Given the description of an element on the screen output the (x, y) to click on. 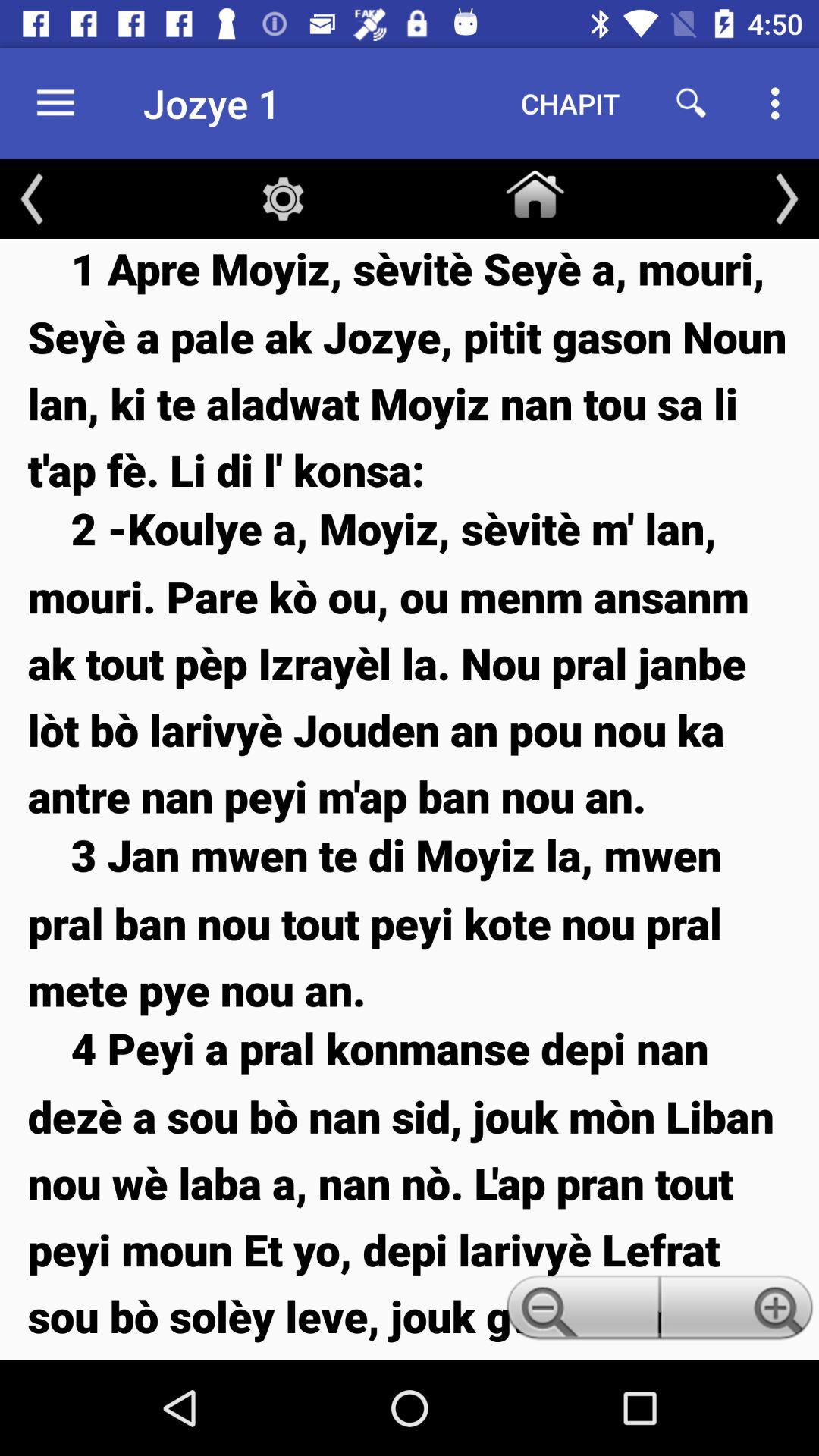
jump until 4 peyi a (409, 1189)
